Given the description of an element on the screen output the (x, y) to click on. 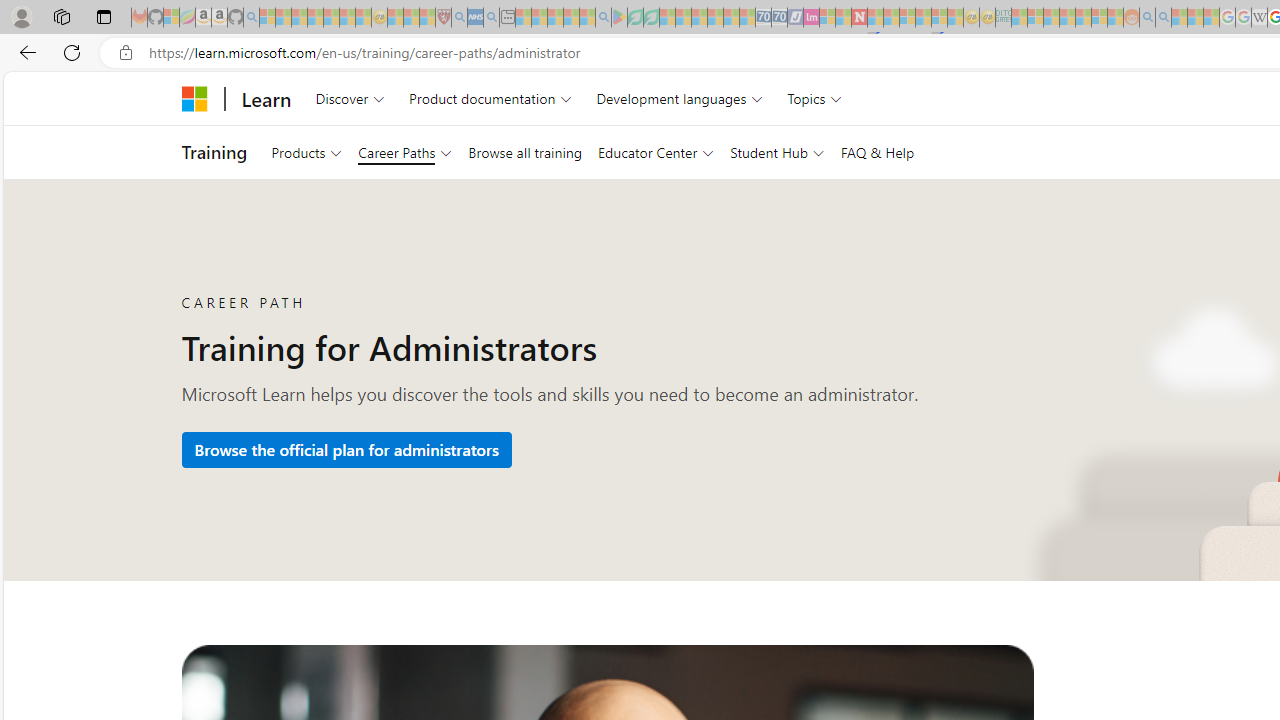
Product documentation (490, 98)
Browse the official plan for administrators (346, 449)
14 Common Myths Debunked By Scientific Facts - Sleeping (891, 17)
Topics (815, 98)
Target page - Wikipedia - Sleeping (1259, 17)
NCL Adult Asthma Inhaler Choice Guideline - Sleeping (475, 17)
Microsoft account | Privacy - Sleeping (1035, 17)
Skip to main content (18, 86)
Kinda Frugal - MSN - Sleeping (1083, 17)
